Given the description of an element on the screen output the (x, y) to click on. 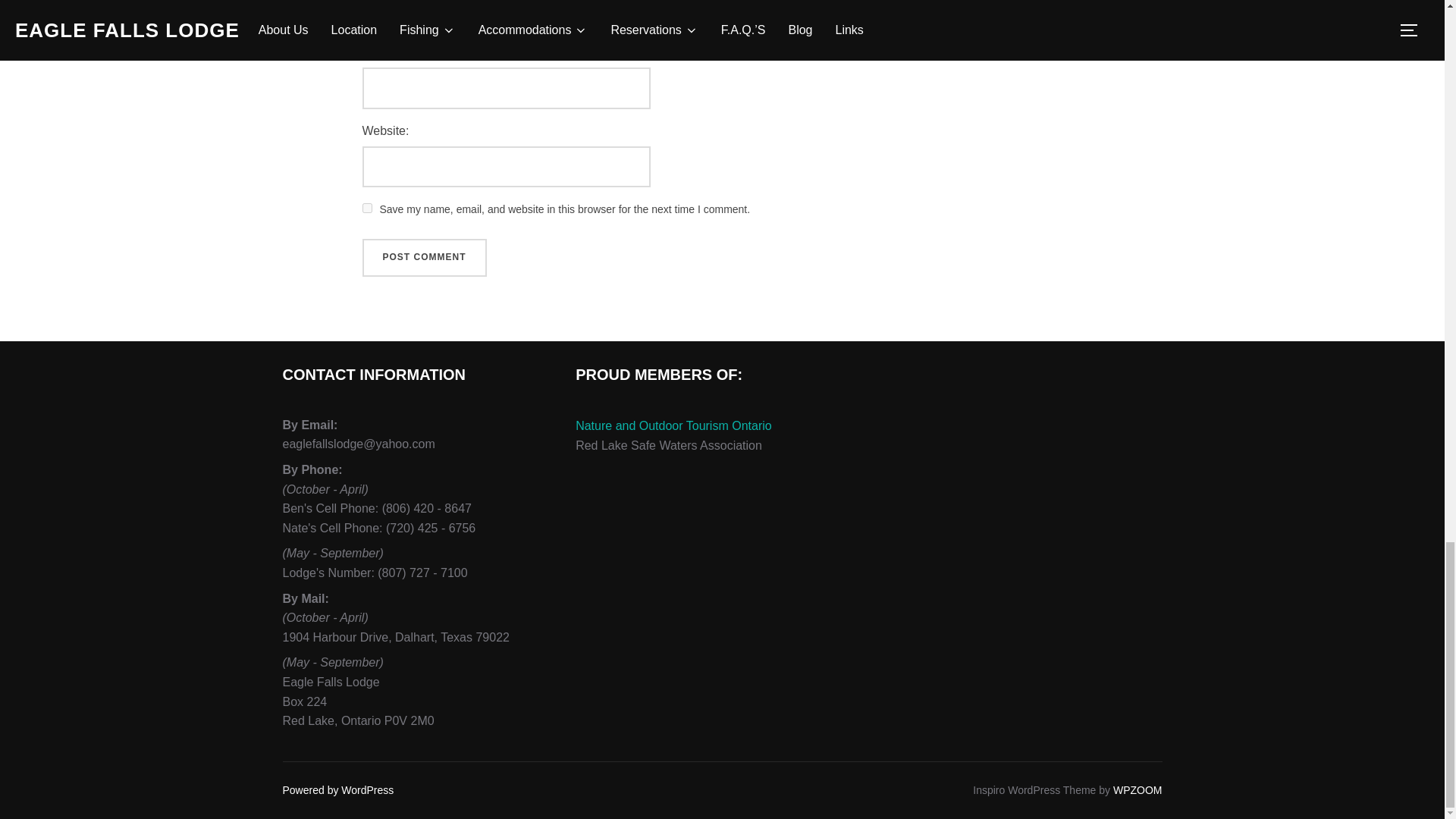
yes (367, 207)
Post Comment (424, 257)
